Given the description of an element on the screen output the (x, y) to click on. 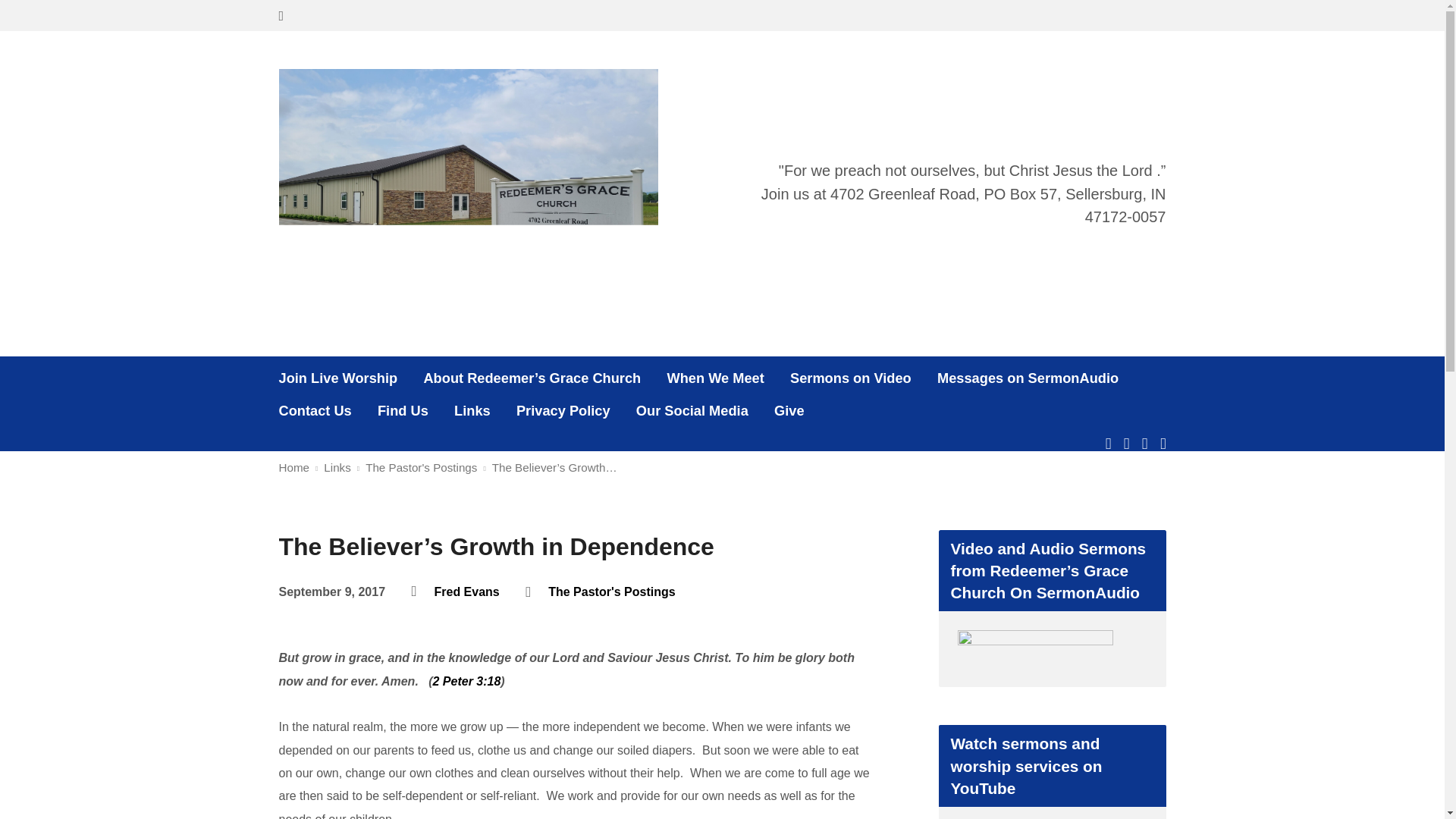
Fred Evans (466, 591)
Sermons on Video (850, 377)
Give (789, 410)
Join Live Worship (338, 377)
The Pastor's Postings (611, 591)
Contact Us (315, 410)
Home (294, 467)
Links (472, 410)
2 Peter 3:18 (466, 680)
Messages on SermonAudio (1027, 377)
